Given the description of an element on the screen output the (x, y) to click on. 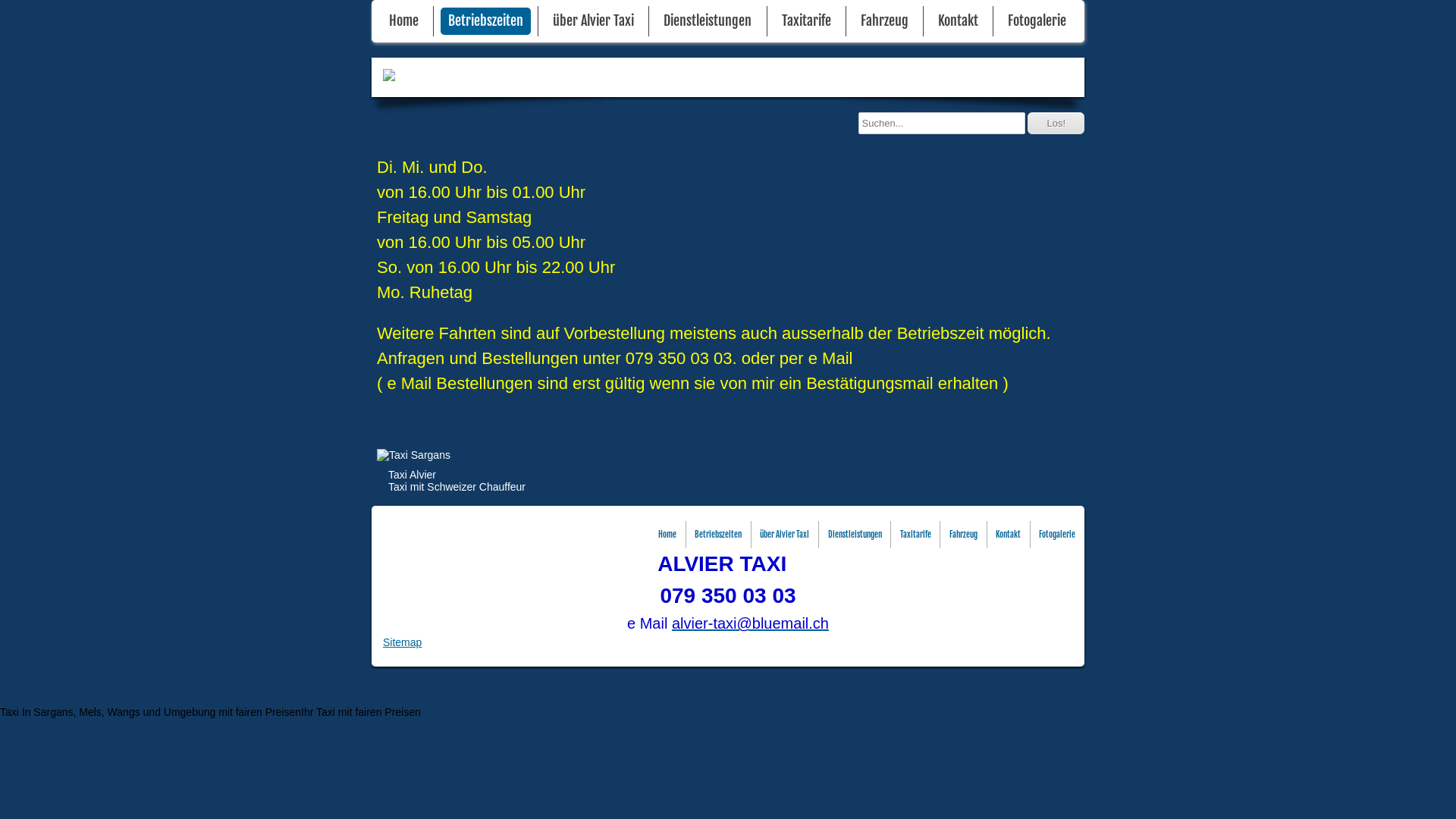
Fahrzeug Element type: text (963, 534)
Sitemap Element type: text (401, 642)
Home Element type: text (403, 20)
Taxitarife Element type: text (806, 20)
Fahrzeug Element type: text (884, 20)
Dienstleistungen Element type: text (707, 20)
Fotogalerie Element type: text (1056, 534)
Betriebszeiten Element type: text (718, 534)
Kontakt Element type: text (957, 20)
Kontakt Element type: text (1008, 534)
Dienstleistungen Element type: text (854, 534)
Fotogalerie Element type: text (1036, 20)
alvier-taxi@bluemail.ch Element type: text (749, 623)
Home Element type: text (666, 534)
Betriebszeiten Element type: text (485, 20)
Taxitarife Element type: text (915, 534)
Los! Element type: text (1055, 123)
